Given the description of an element on the screen output the (x, y) to click on. 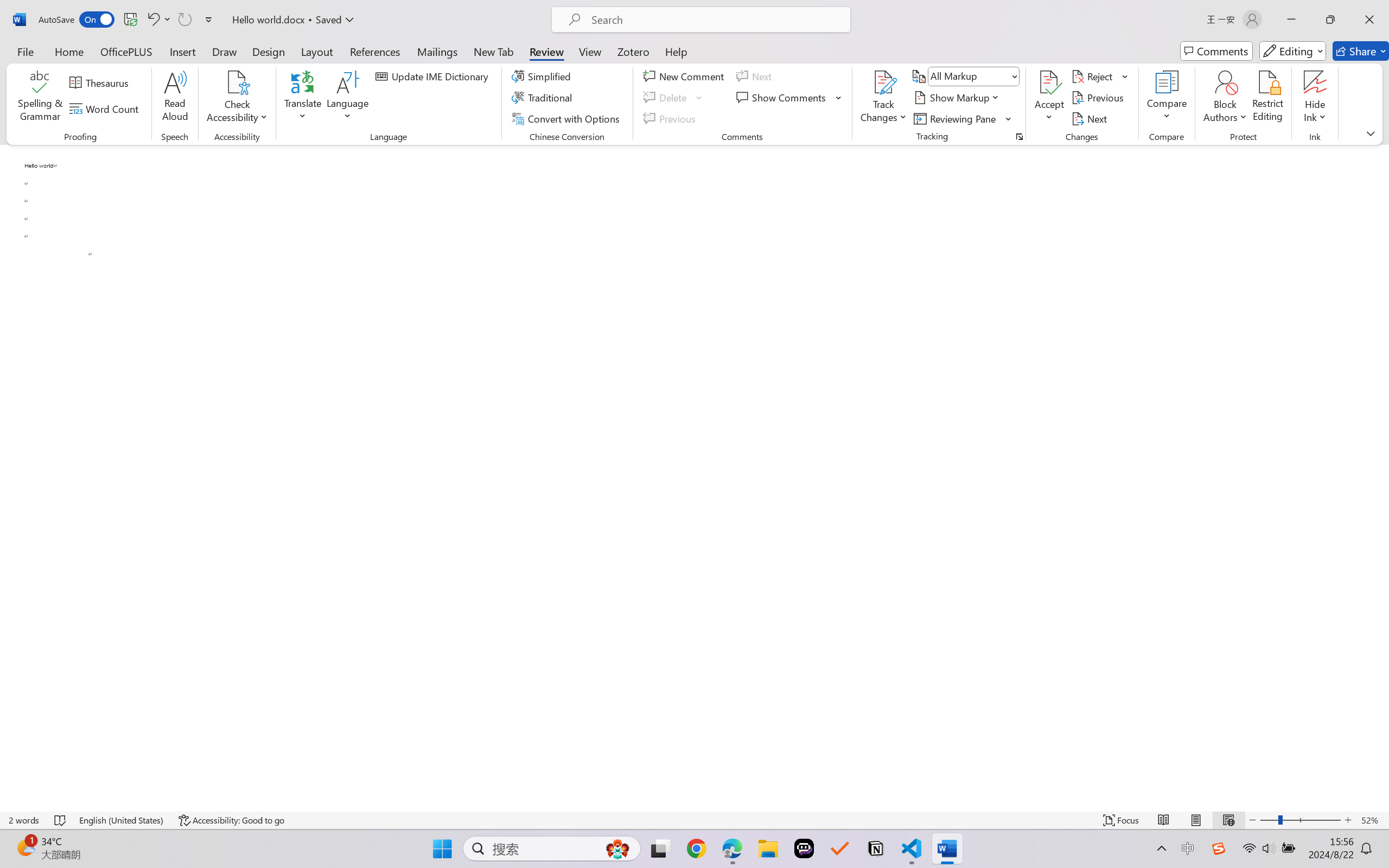
Undo Click and Type Formatting (152, 19)
Zoom Out (1268, 819)
More Options (1315, 112)
Show Comments (788, 97)
Compare (1166, 97)
Review (546, 51)
Open (1014, 76)
Hide Ink (1315, 97)
AutomationID: BadgeAnchorLargeTicker (24, 847)
Hide Ink (1315, 81)
Reviewing Pane (962, 118)
File Tab (24, 51)
Share (1360, 51)
Translate (303, 97)
